Given the description of an element on the screen output the (x, y) to click on. 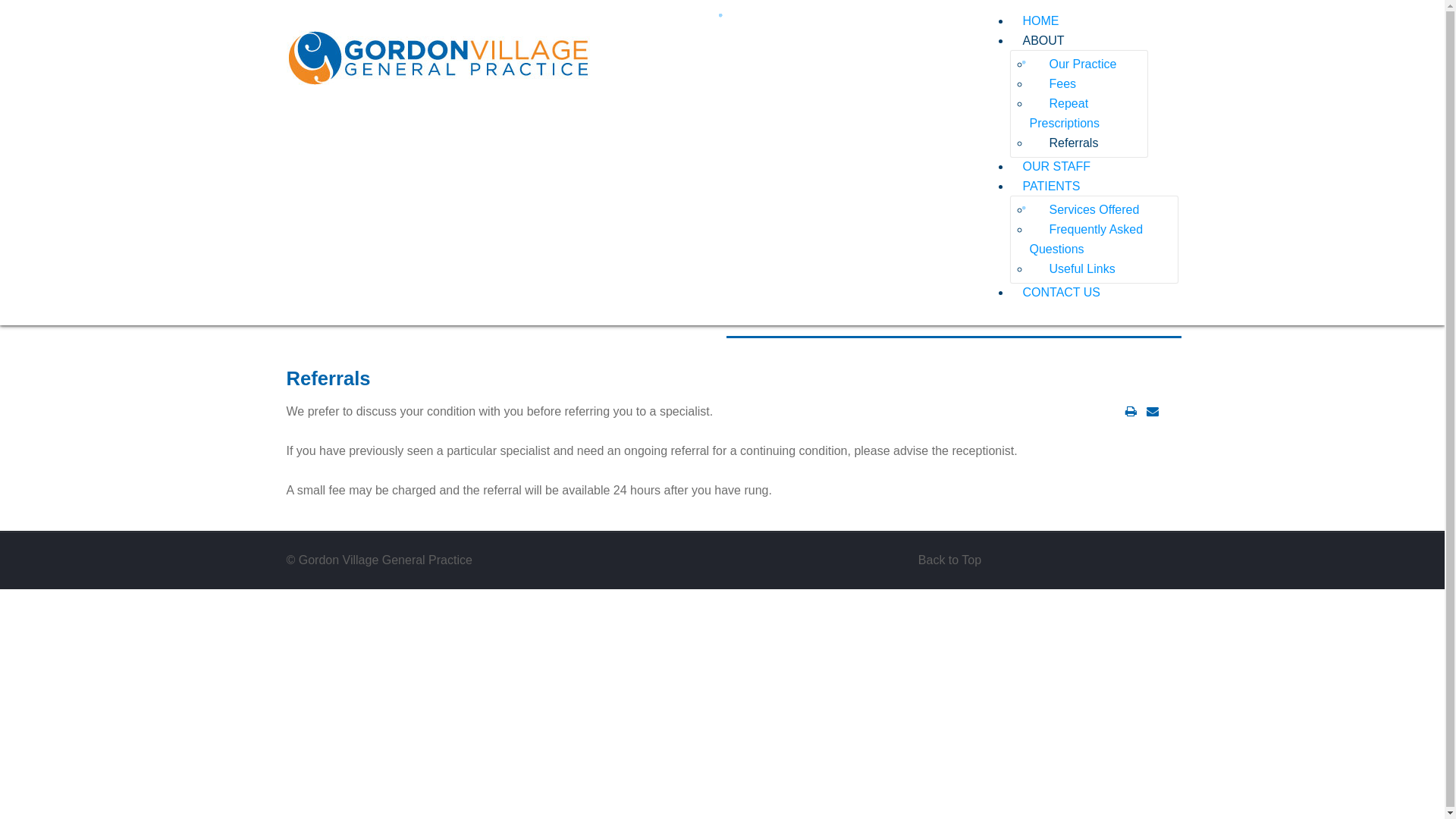
Our Practice Element type: text (1073, 63)
Back to Top Element type: text (949, 560)
Services Offered Element type: text (1084, 209)
PATIENTS Element type: text (1051, 185)
Email this link to a friend Element type: hover (1152, 410)
CONTACT US Element type: text (1055, 292)
ABOUT Element type: text (1043, 40)
OUR STAFF Element type: text (1050, 166)
Useful Links Element type: text (1072, 268)
HOME Element type: text (1034, 20)
Frequently Asked Questions Element type: text (1086, 239)
Print article < Referrals > Element type: hover (1130, 410)
Fees Element type: text (1053, 83)
Repeat Prescriptions Element type: text (1064, 113)
Referrals Element type: text (1064, 142)
Referrals Element type: text (328, 378)
